Given the description of an element on the screen output the (x, y) to click on. 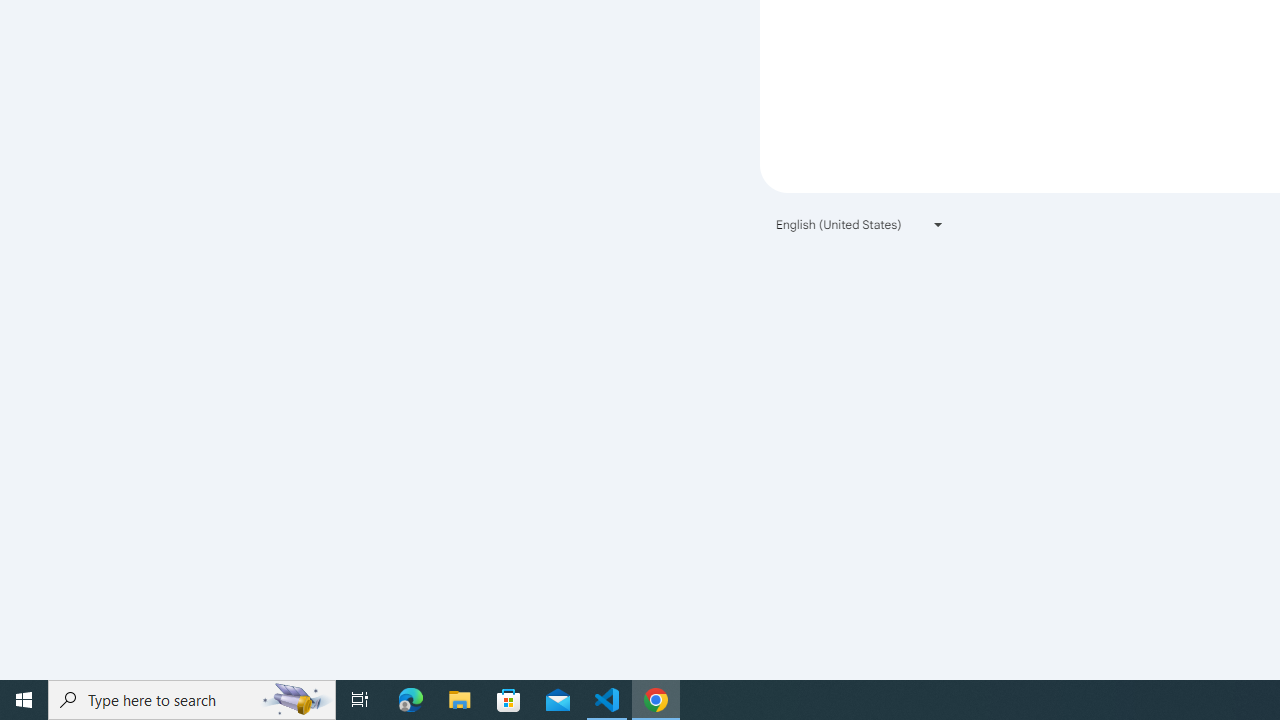
English (United States) (860, 224)
